Given the description of an element on the screen output the (x, y) to click on. 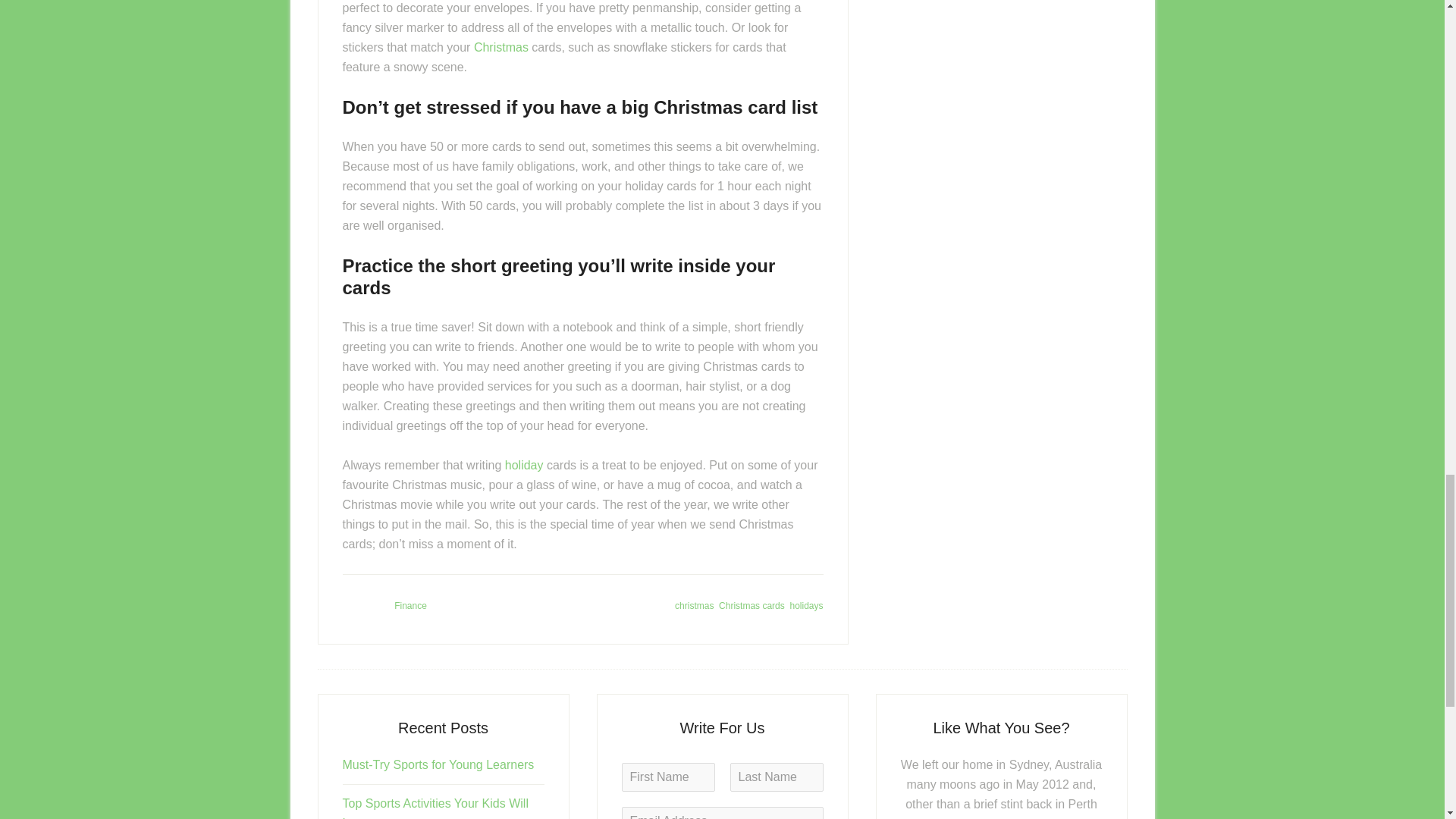
Top Sports Activities Your Kids Will Love (435, 807)
Finance (410, 605)
christmas (694, 605)
holiday (524, 464)
Christmas cards (751, 605)
Must-Try Sports for Young Learners (438, 764)
Christmas (501, 47)
holidays (805, 605)
